Given the description of an element on the screen output the (x, y) to click on. 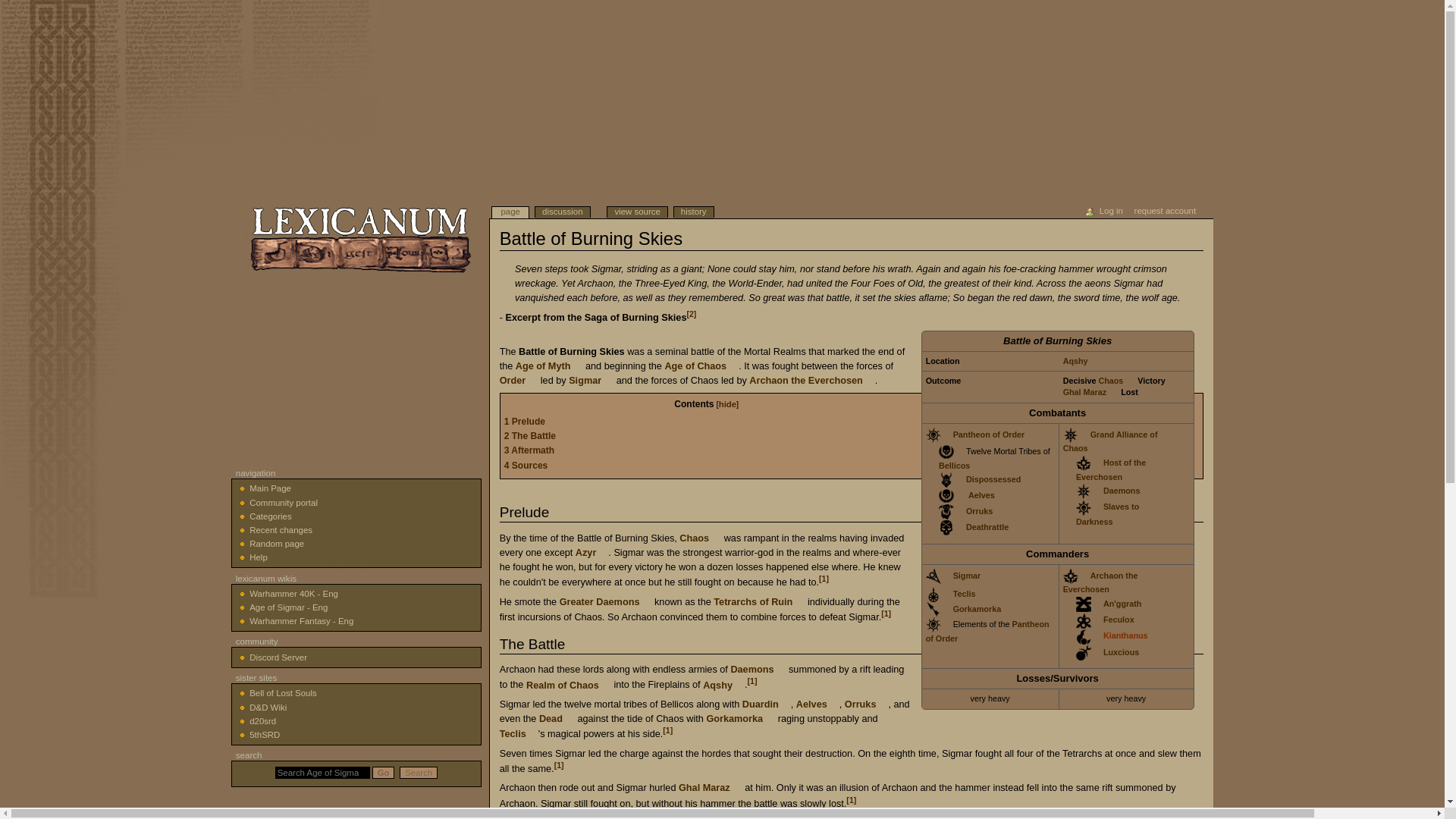
Search (418, 772)
Go (383, 772)
Go (383, 772)
Search (418, 772)
